Given the description of an element on the screen output the (x, y) to click on. 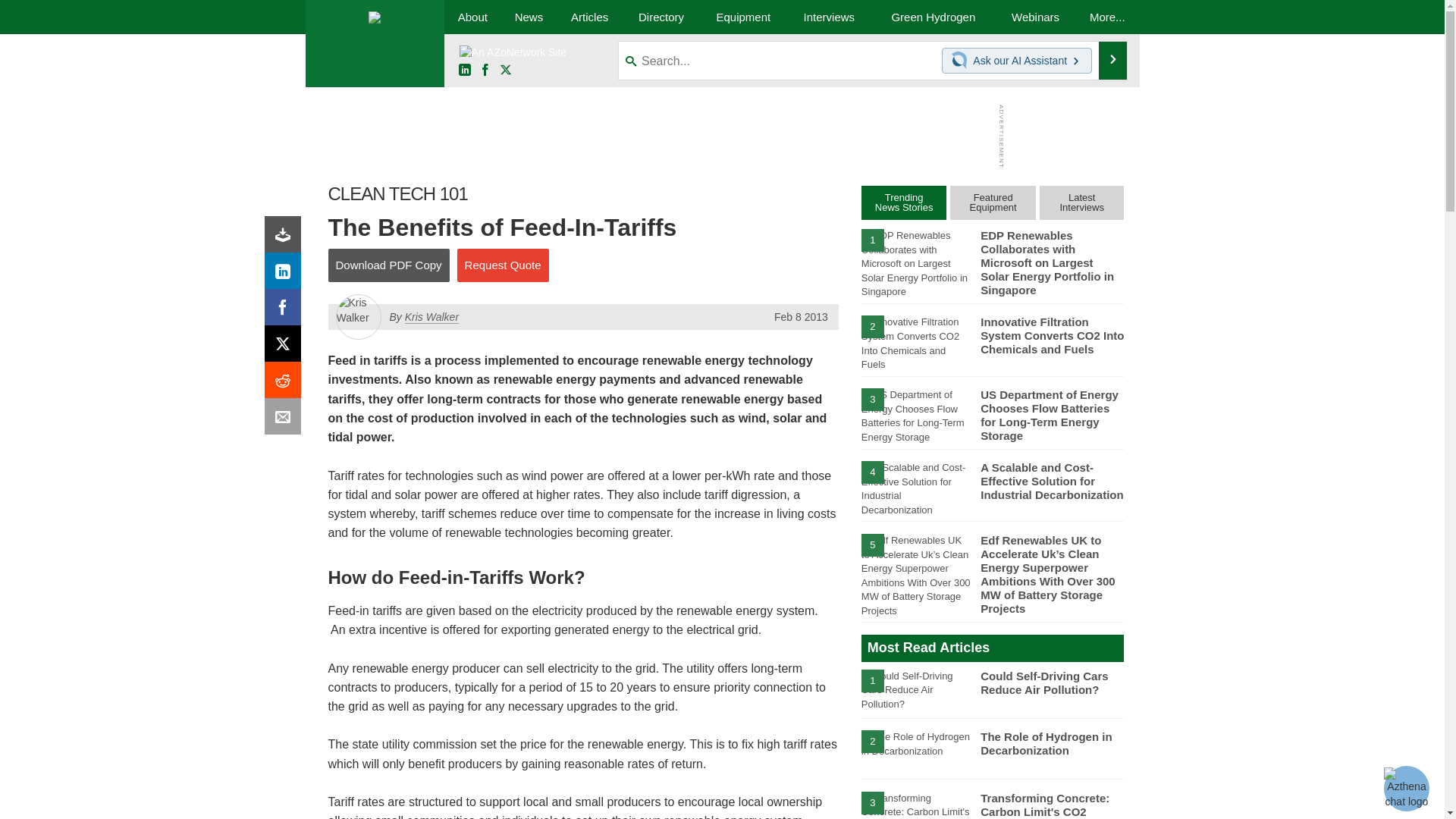
Download PDF copy (285, 238)
Facebook (485, 70)
Webinars (1035, 17)
Directory (660, 17)
Email (285, 420)
Chat with our AI Assistant Ask our AI Assistant (1017, 60)
News (528, 17)
LinkedIn (464, 70)
LinkedIn (285, 275)
Equipment (742, 17)
